Given the description of an element on the screen output the (x, y) to click on. 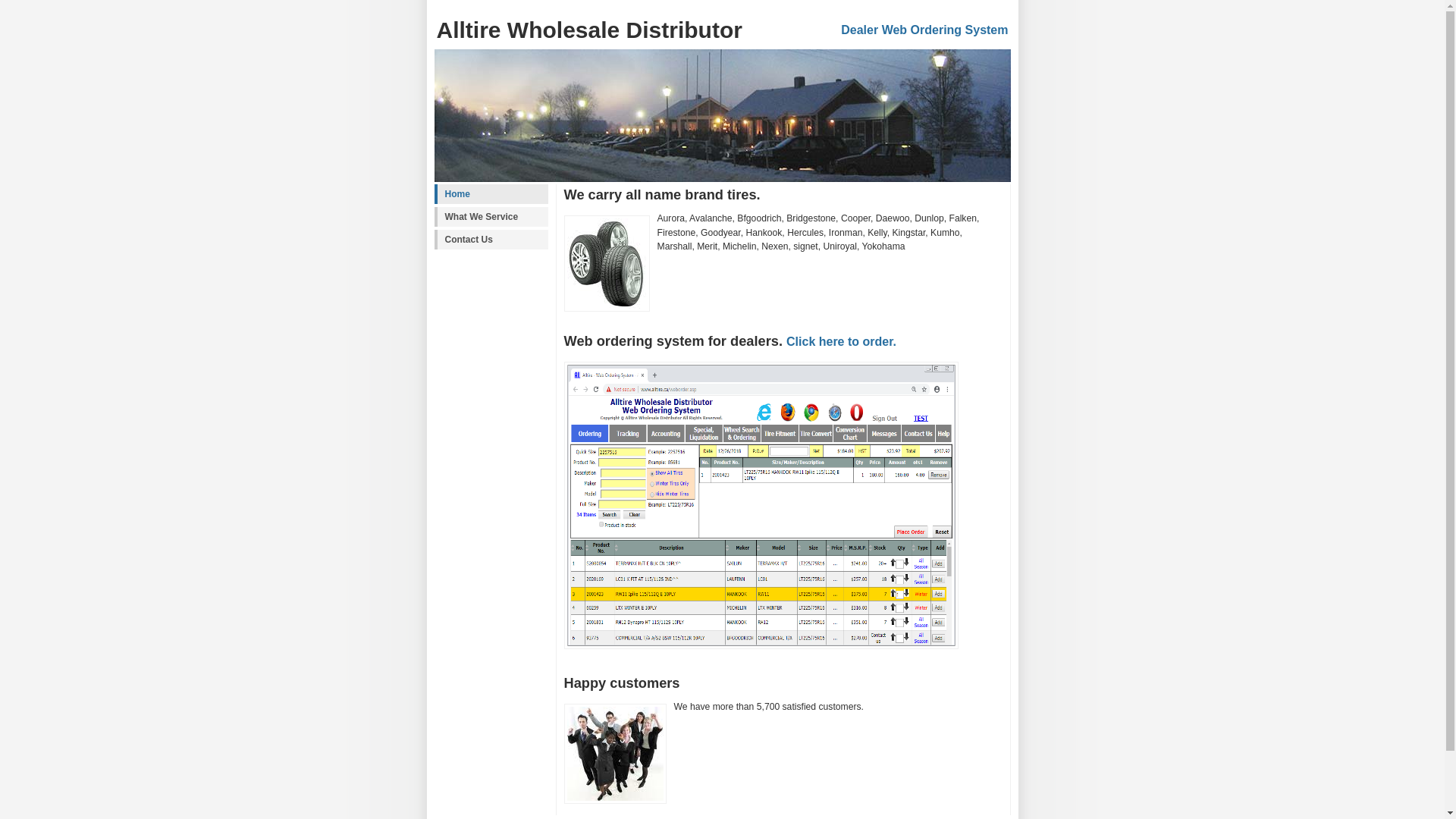
What We Service Element type: text (490, 216)
Click here to order. Element type: text (841, 341)
Contact Us Element type: text (490, 239)
Dealer Web Ordering System Element type: text (923, 29)
Home Element type: text (490, 193)
